Given the description of an element on the screen output the (x, y) to click on. 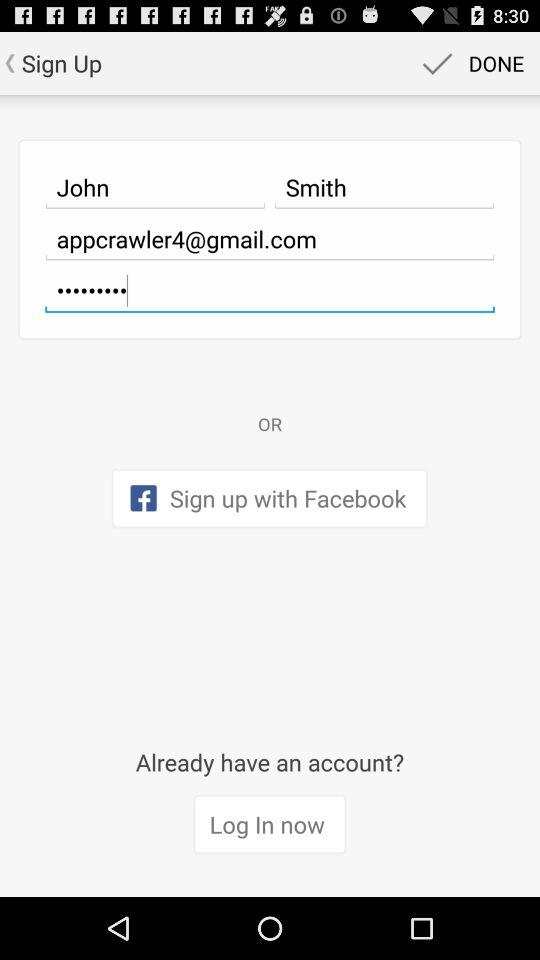
turn on icon above or (269, 290)
